Given the description of an element on the screen output the (x, y) to click on. 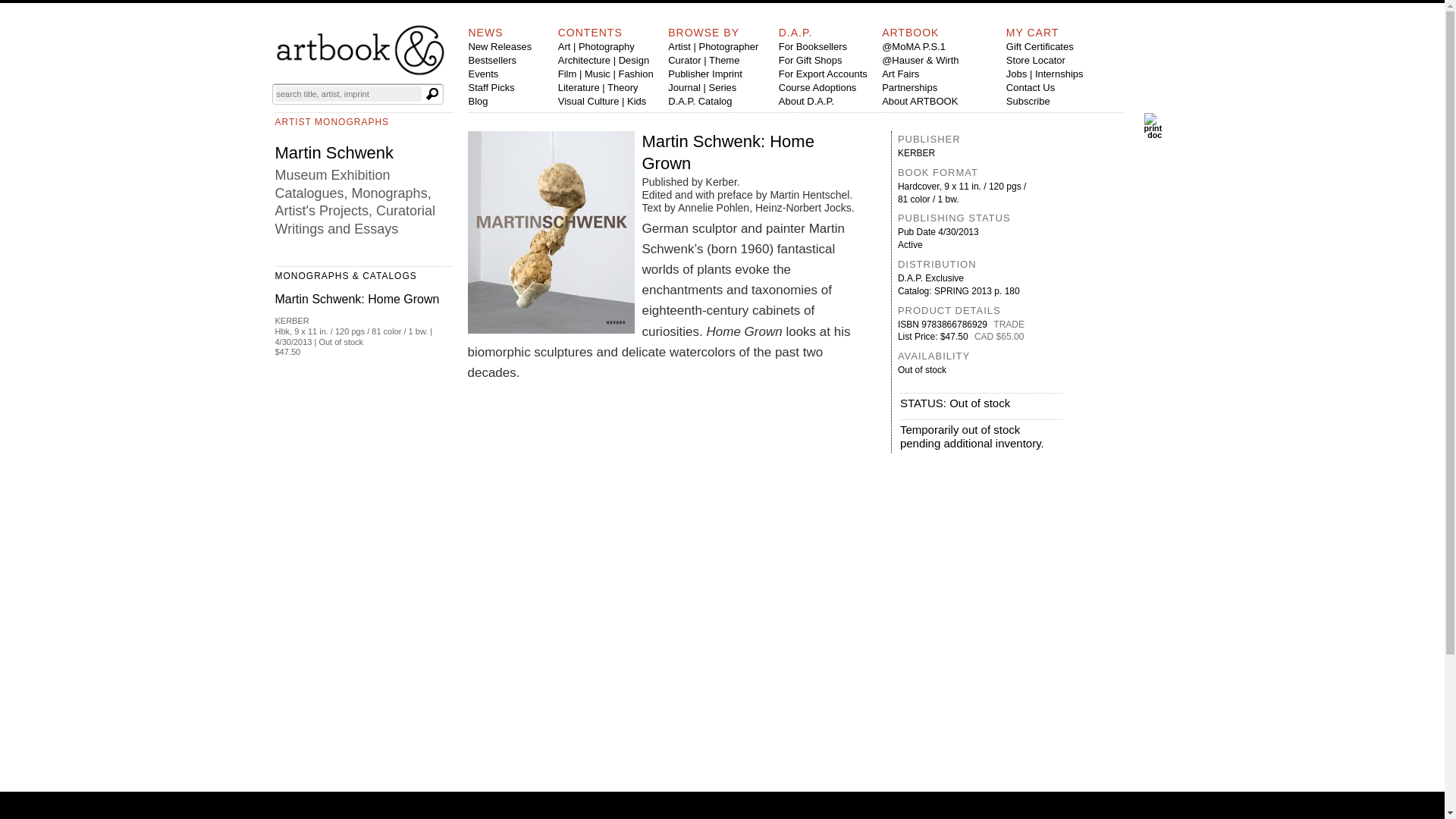
Artist (679, 46)
search (432, 93)
Visual Culture (588, 101)
Design (633, 60)
Curator (684, 60)
For Export Accounts (822, 73)
Journal (684, 87)
Blog (477, 101)
CONTENTS (590, 32)
Art (563, 46)
D.A.P. (795, 32)
New Releases (500, 46)
Architecture (583, 60)
Bestsellers (492, 60)
Course Adoptions (817, 87)
